Given the description of an element on the screen output the (x, y) to click on. 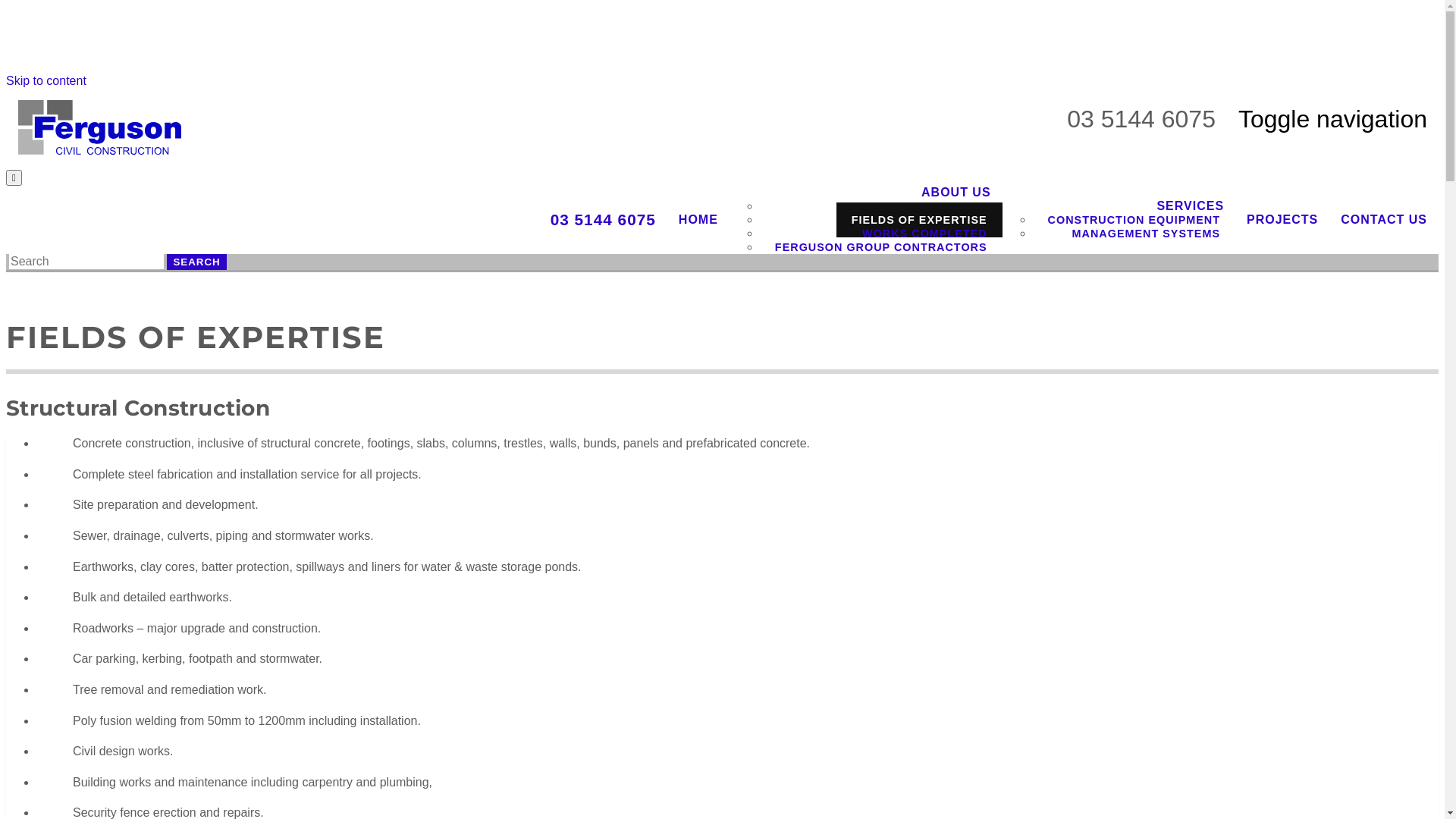
HOME Element type: text (698, 219)
CONTACT US Element type: text (1383, 219)
SERVICES Element type: text (1190, 205)
SEARCH Element type: text (195, 261)
Skip to content Element type: text (46, 80)
WORKS COMPLETED Element type: text (924, 233)
MANAGEMENT SYSTEMS Element type: text (1146, 233)
PROJECTS Element type: text (1282, 219)
CONSTRUCTION EQUIPMENT Element type: text (1133, 219)
FERGUSON GROUP CONTRACTORS Element type: text (880, 246)
Toggle navigation Element type: text (1332, 118)
COMPANY HISTORY Element type: text (927, 205)
FIELDS OF EXPERTISE Element type: text (919, 219)
ABOUT US Element type: text (956, 192)
03 5144 6075 Element type: text (603, 219)
